Given the description of an element on the screen output the (x, y) to click on. 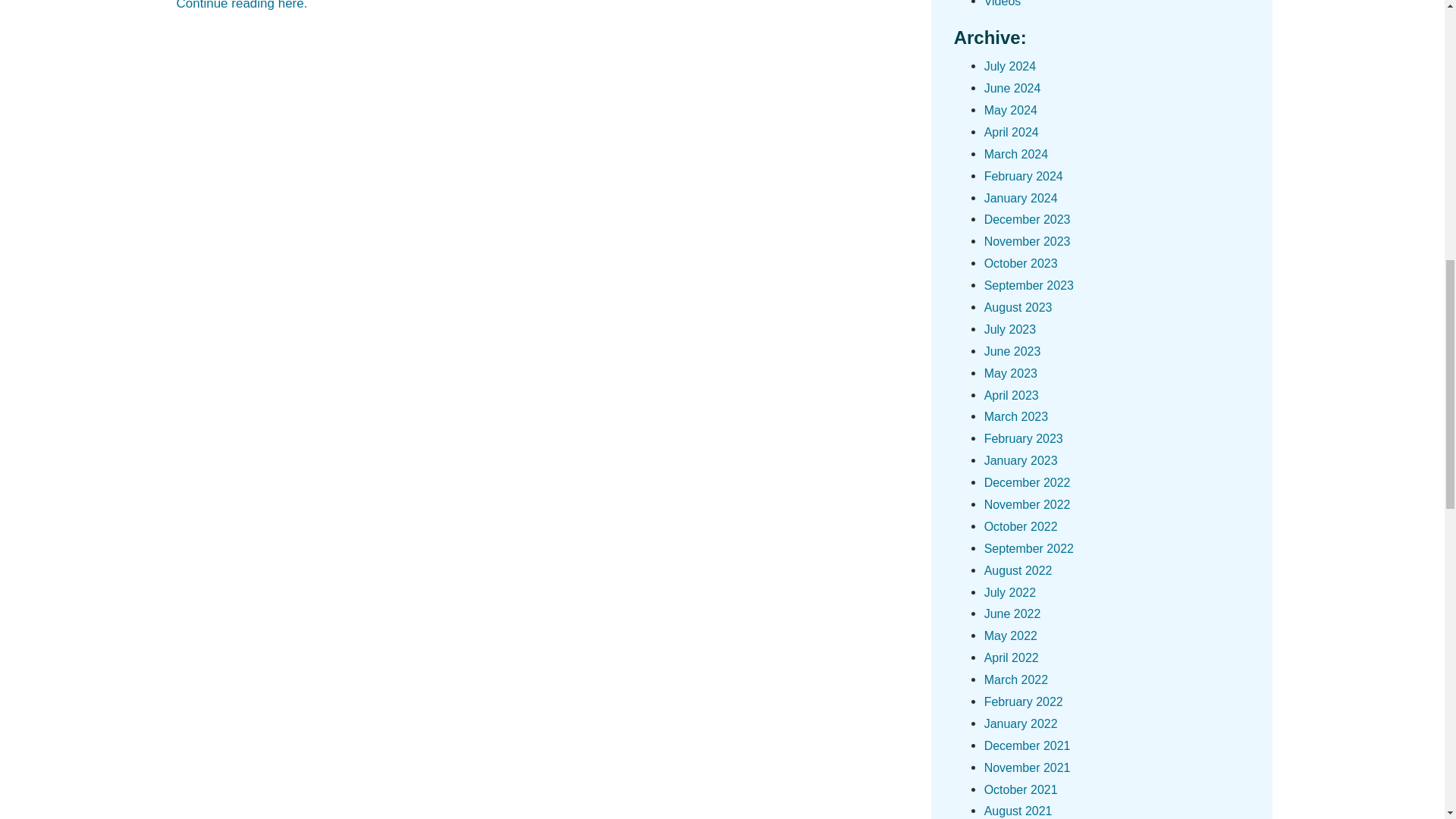
Continue reading here. (241, 5)
